Given the description of an element on the screen output the (x, y) to click on. 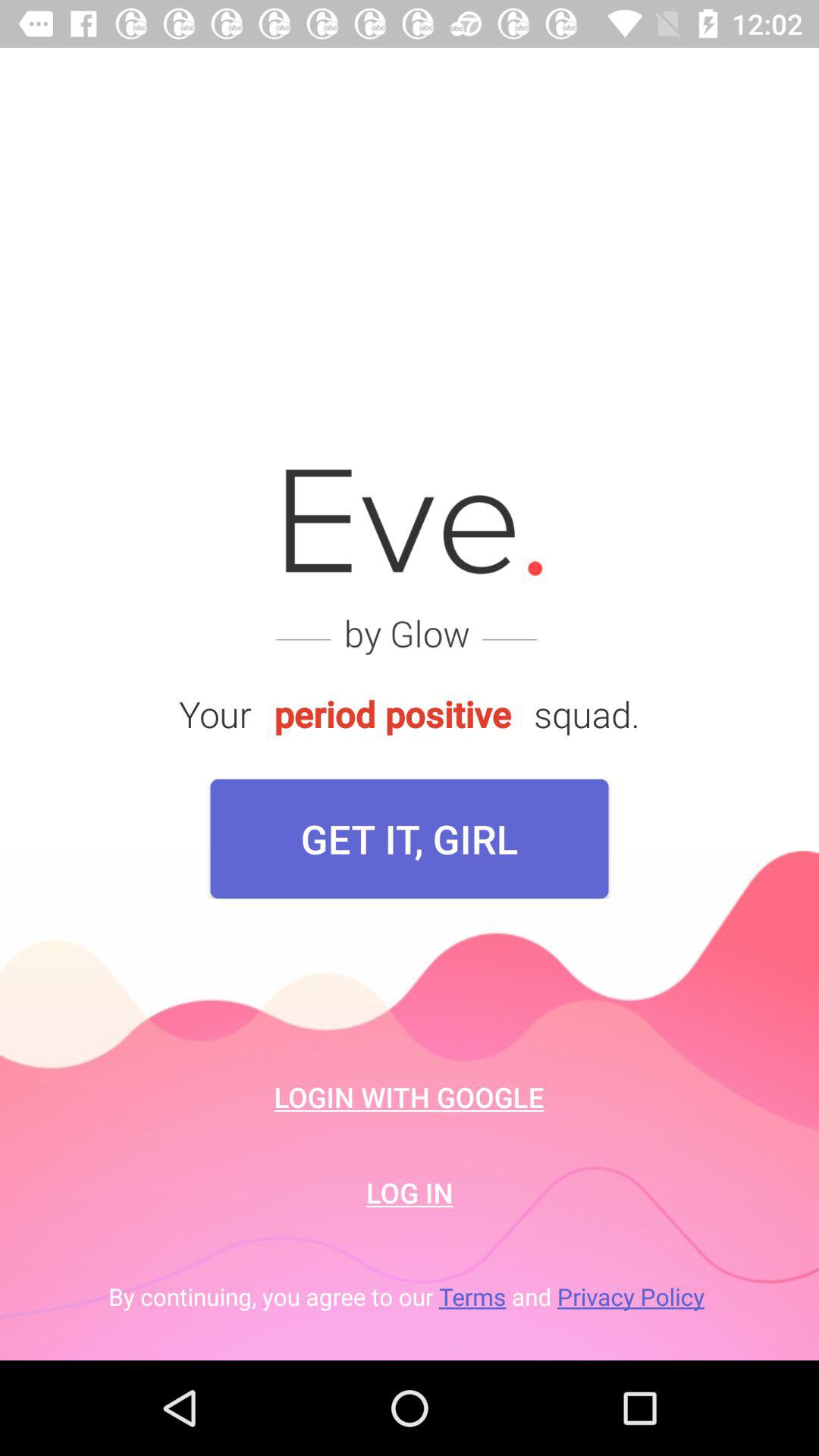
select the icon above by continuing you icon (409, 1192)
